Given the description of an element on the screen output the (x, y) to click on. 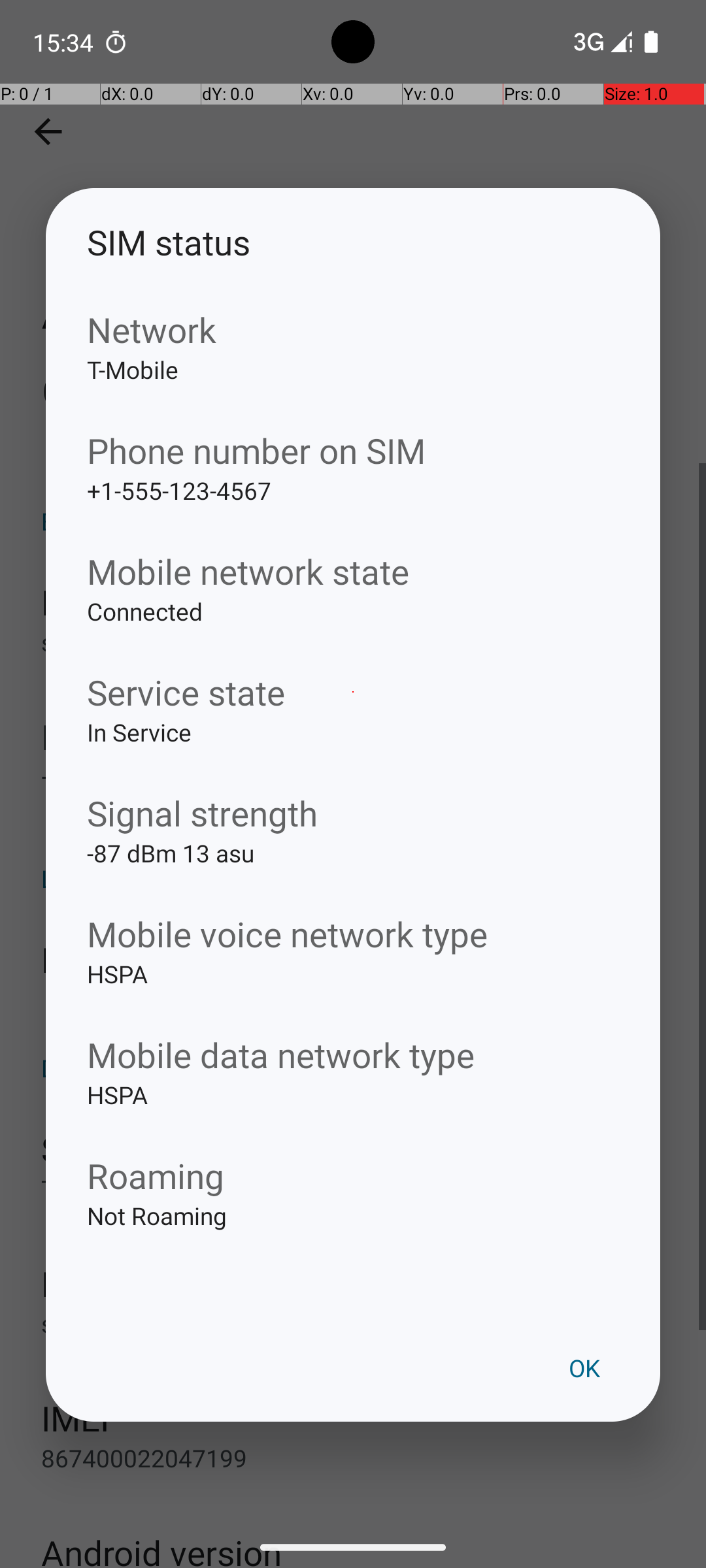
SIM status Element type: android.widget.TextView (352, 241)
Network Element type: android.widget.TextView (352, 329)
Phone number on SIM Element type: android.widget.TextView (352, 450)
+1-555-123-4567 Element type: android.widget.TextView (352, 510)
Mobile network state Element type: android.widget.TextView (352, 571)
Connected Element type: android.widget.TextView (352, 631)
Service state Element type: android.widget.TextView (352, 692)
In Service Element type: android.widget.TextView (352, 752)
Signal strength Element type: android.widget.TextView (352, 812)
-87 dBm 13 asu Element type: android.widget.TextView (352, 873)
Mobile voice network type Element type: android.widget.TextView (352, 933)
HSPA Element type: android.widget.TextView (352, 994)
Mobile data network type Element type: android.widget.TextView (352, 1054)
Roaming Element type: android.widget.TextView (352, 1175)
Not Roaming Element type: android.widget.TextView (352, 1235)
